Given the description of an element on the screen output the (x, y) to click on. 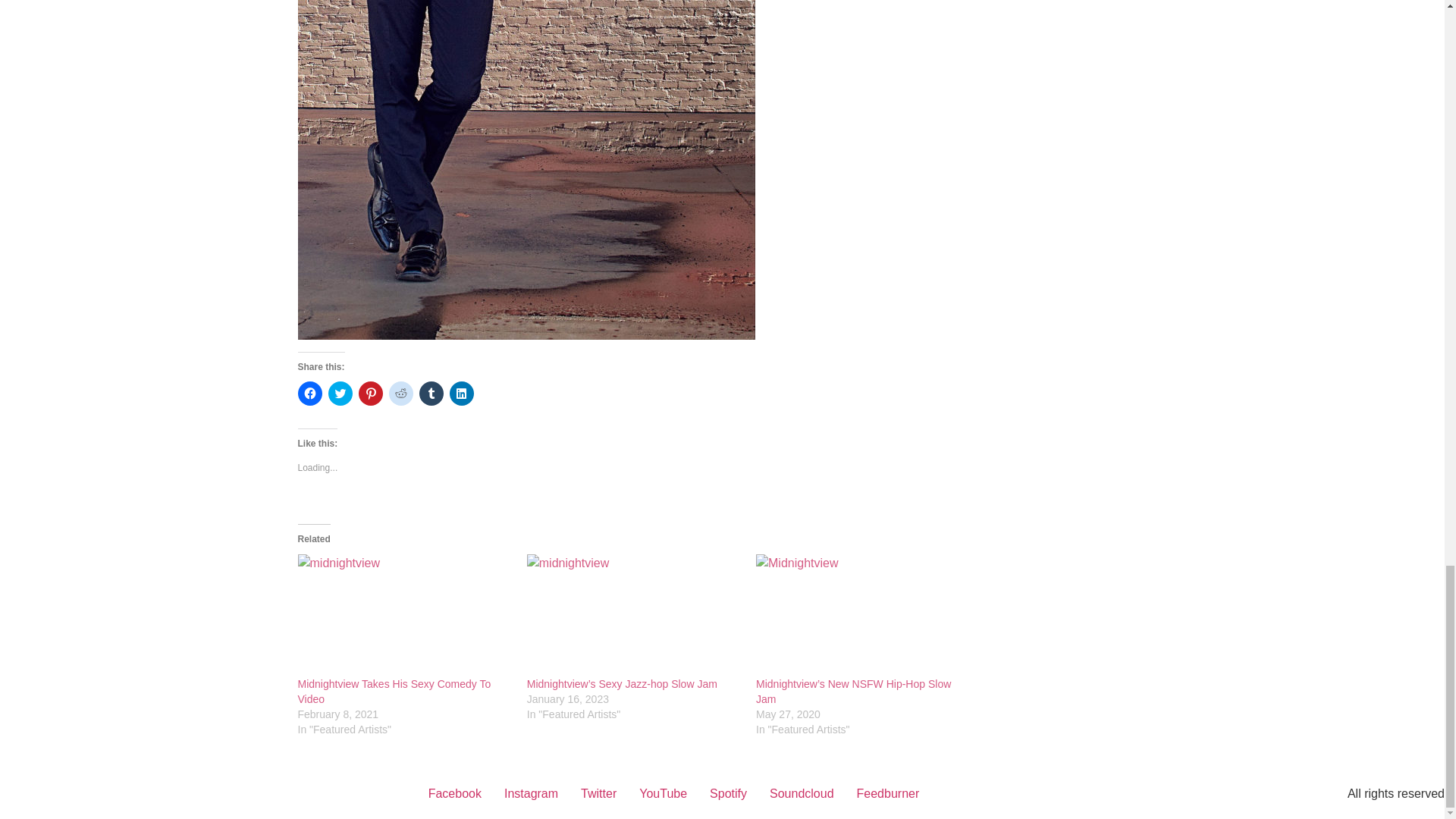
Click to share on LinkedIn (460, 393)
Midnightview Takes His Sexy Comedy To Video (404, 615)
Click to share on Tumblr (430, 393)
Click to share on Twitter (339, 393)
Click to share on Facebook (309, 393)
Click to share on Pinterest (369, 393)
Midnightview Takes His Sexy Comedy To Video (393, 691)
Midnightview Takes His Sexy Comedy To Video (393, 691)
Click to share on Reddit (400, 393)
